Given the description of an element on the screen output the (x, y) to click on. 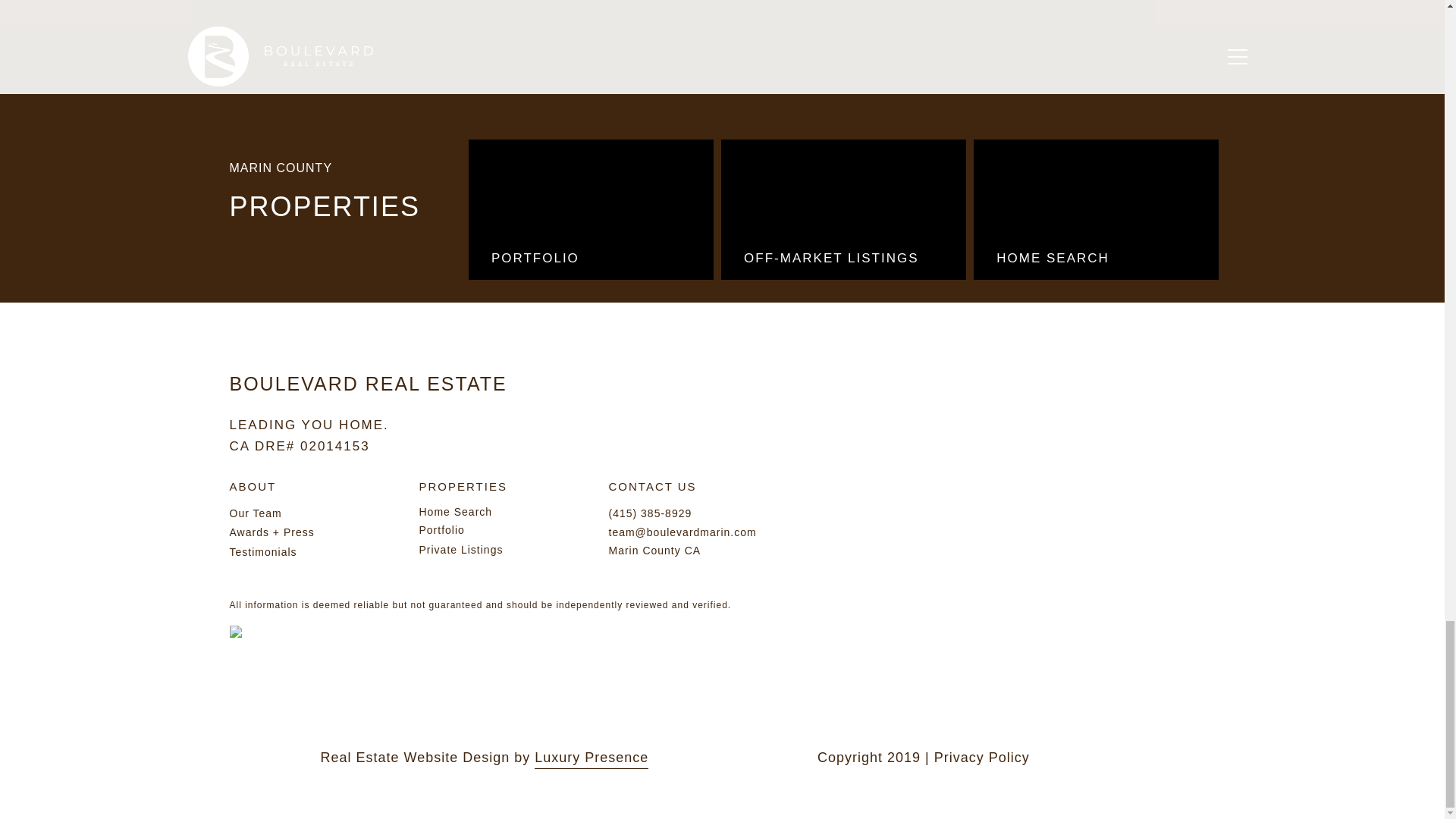
HOME SEARCH (1096, 209)
Our Team (254, 512)
PORTFOLIO (590, 209)
OFF-MARKET LISTINGS (843, 209)
